Given the description of an element on the screen output the (x, y) to click on. 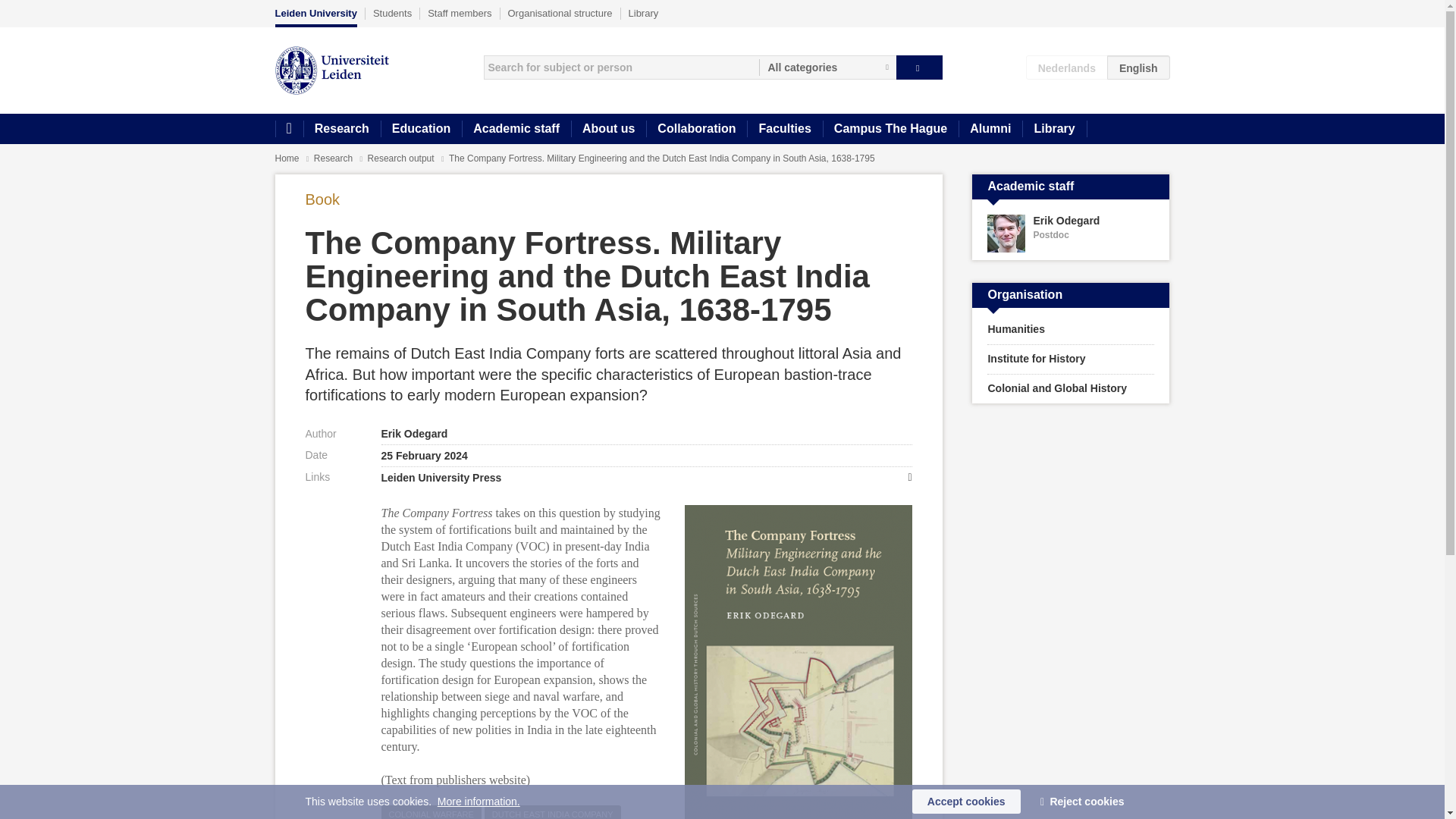
Campus The Hague (890, 128)
Students (392, 13)
Staff members (460, 13)
Research output (402, 158)
Library (1054, 128)
All categories (827, 67)
Education (420, 128)
Research (334, 158)
Organisational structure (560, 13)
Search (919, 67)
